Given the description of an element on the screen output the (x, y) to click on. 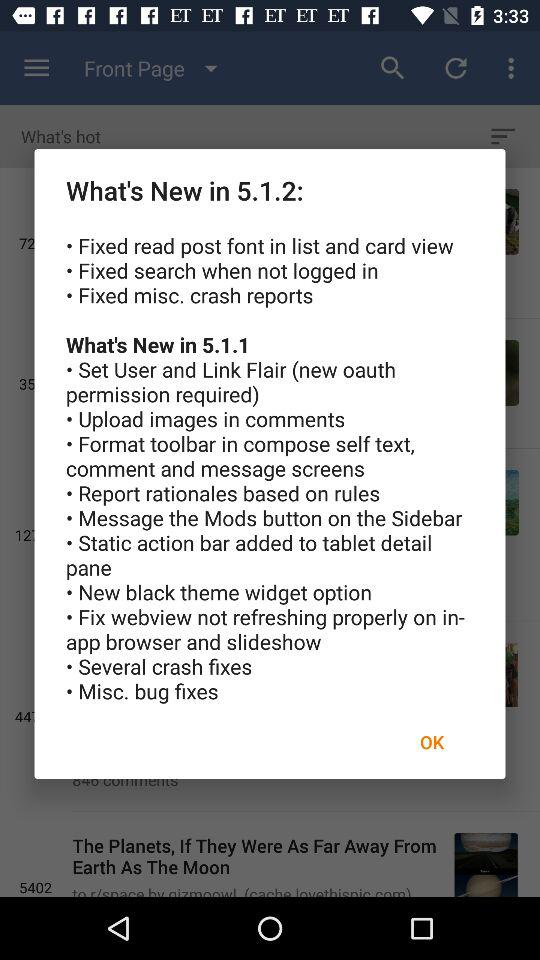
open ok icon (431, 741)
